Given the description of an element on the screen output the (x, y) to click on. 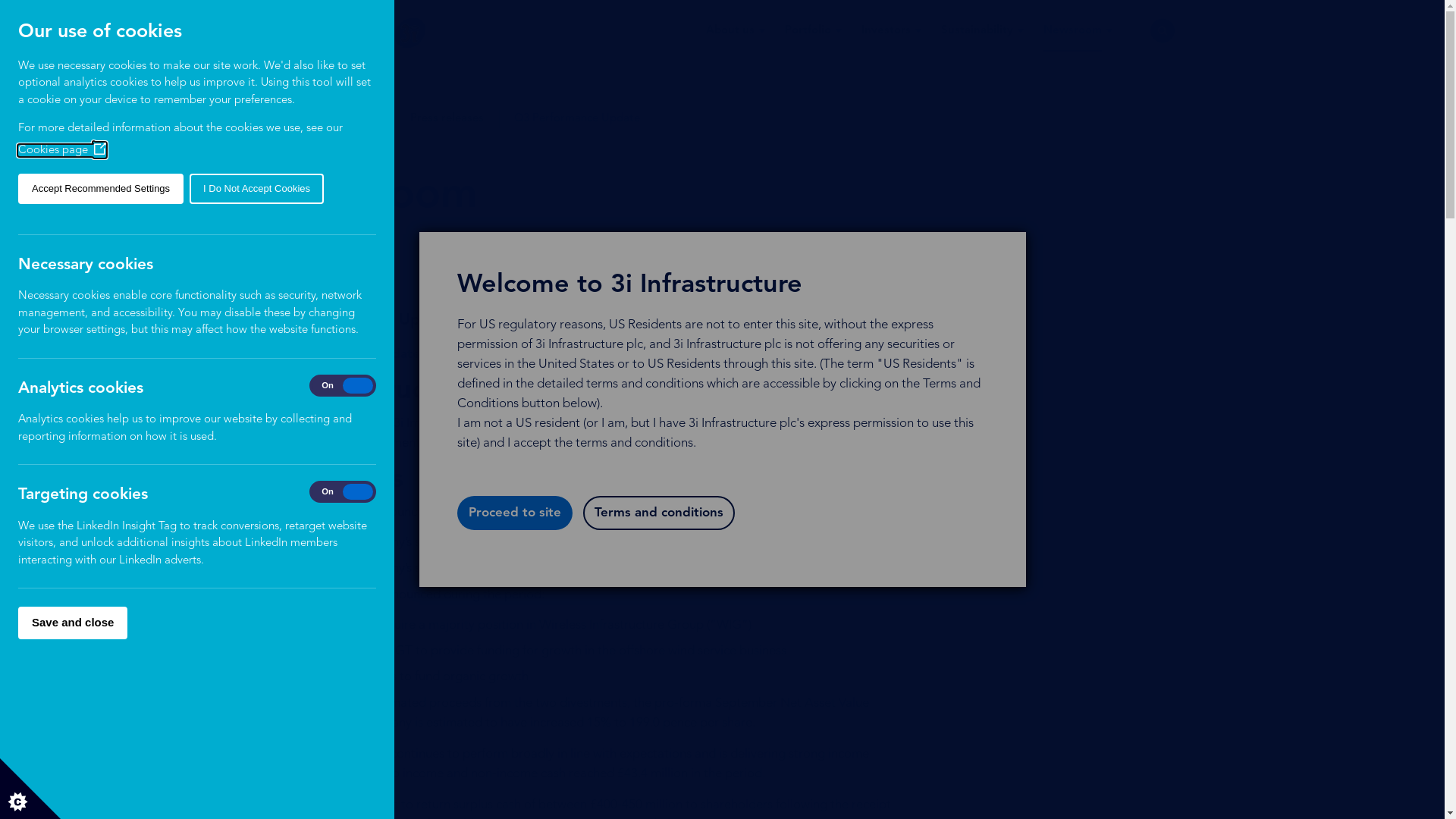
Terms and conditions Element type: text (658, 512)
Save and close Element type: text (72, 622)
Sustainability Element type: text (976, 21)
Home Element type: text (276, 118)
Accept Recommended Settings Element type: text (100, 188)
Portfolio Element type: text (807, 21)
About us Element type: text (729, 21)
Newsroom Element type: text (351, 118)
Search Element type: text (1161, 30)
Q3 Performance update to 31 December 2017 Element type: text (415, 354)
I Do Not Accept Cookies Element type: text (256, 188)
Submit Element type: text (1153, 86)
3i-infrastructure Logo Element type: text (348, 32)
Cookies page
(Opens in a new window) Element type: text (62, 149)
Q3 Performance Update Element type: text (577, 118)
Newsroom Element type: text (1072, 25)
Press releases Element type: text (446, 118)
Proceed to site Element type: text (513, 512)
Investors Element type: text (885, 21)
